Given the description of an element on the screen output the (x, y) to click on. 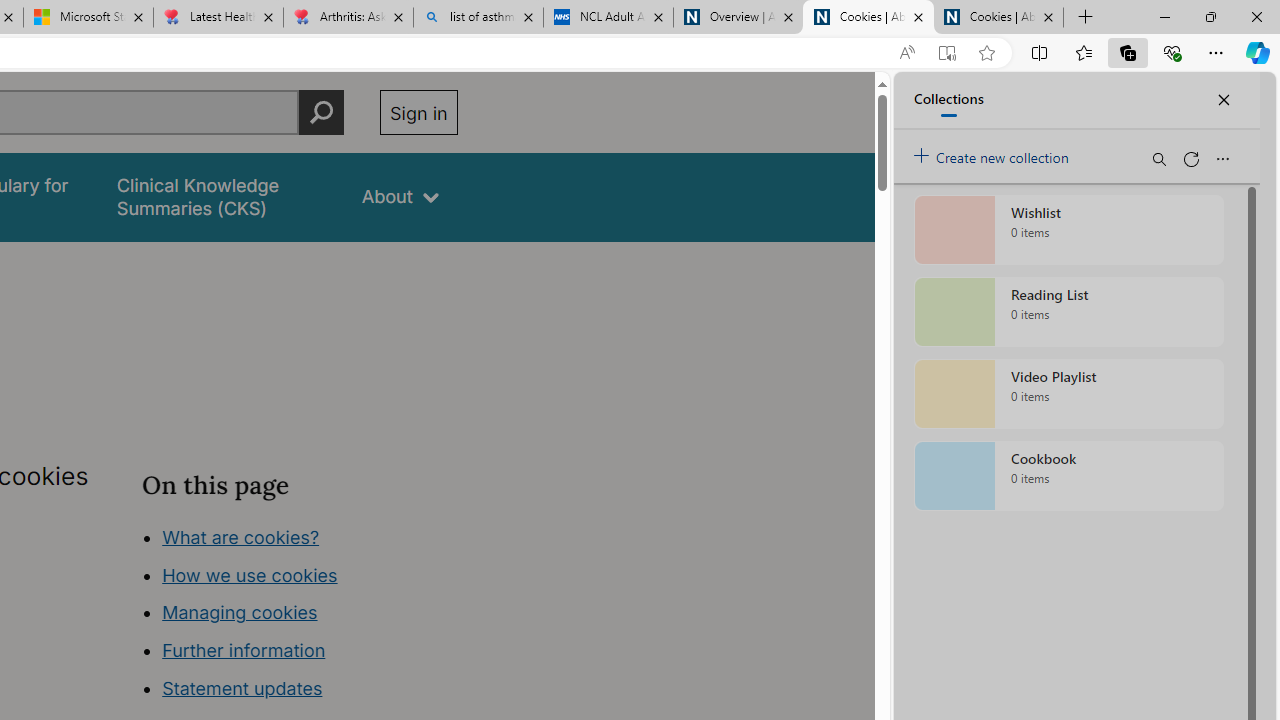
Managing cookies (239, 612)
Cookies | About | NICE (998, 17)
Statement updates (242, 688)
